Given the description of an element on the screen output the (x, y) to click on. 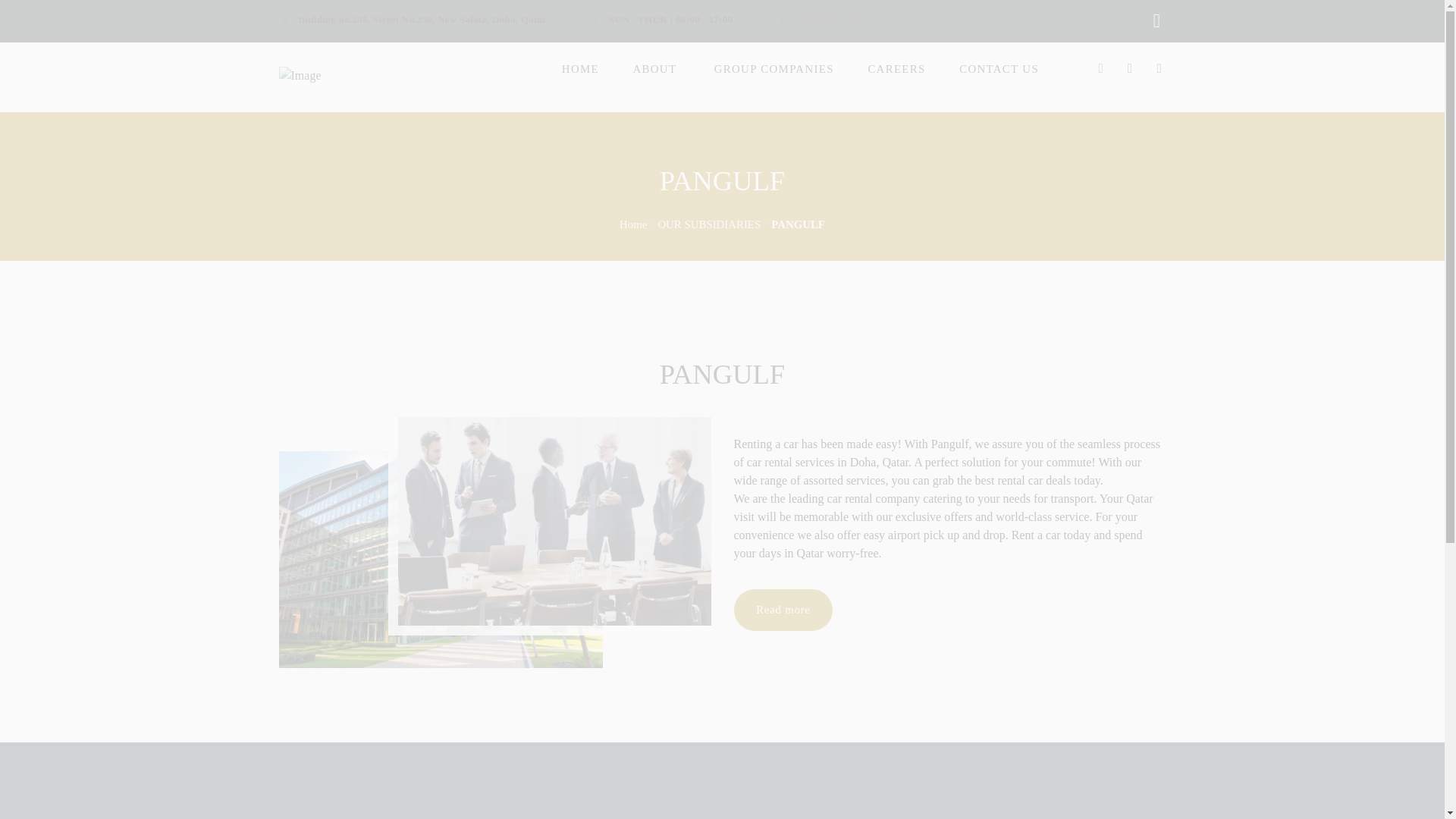
Home (633, 224)
GROUP COMPANIES (773, 68)
ABOUT  (656, 68)
CAREERS (896, 68)
CONTACT US (998, 68)
HOME (579, 68)
